Given the description of an element on the screen output the (x, y) to click on. 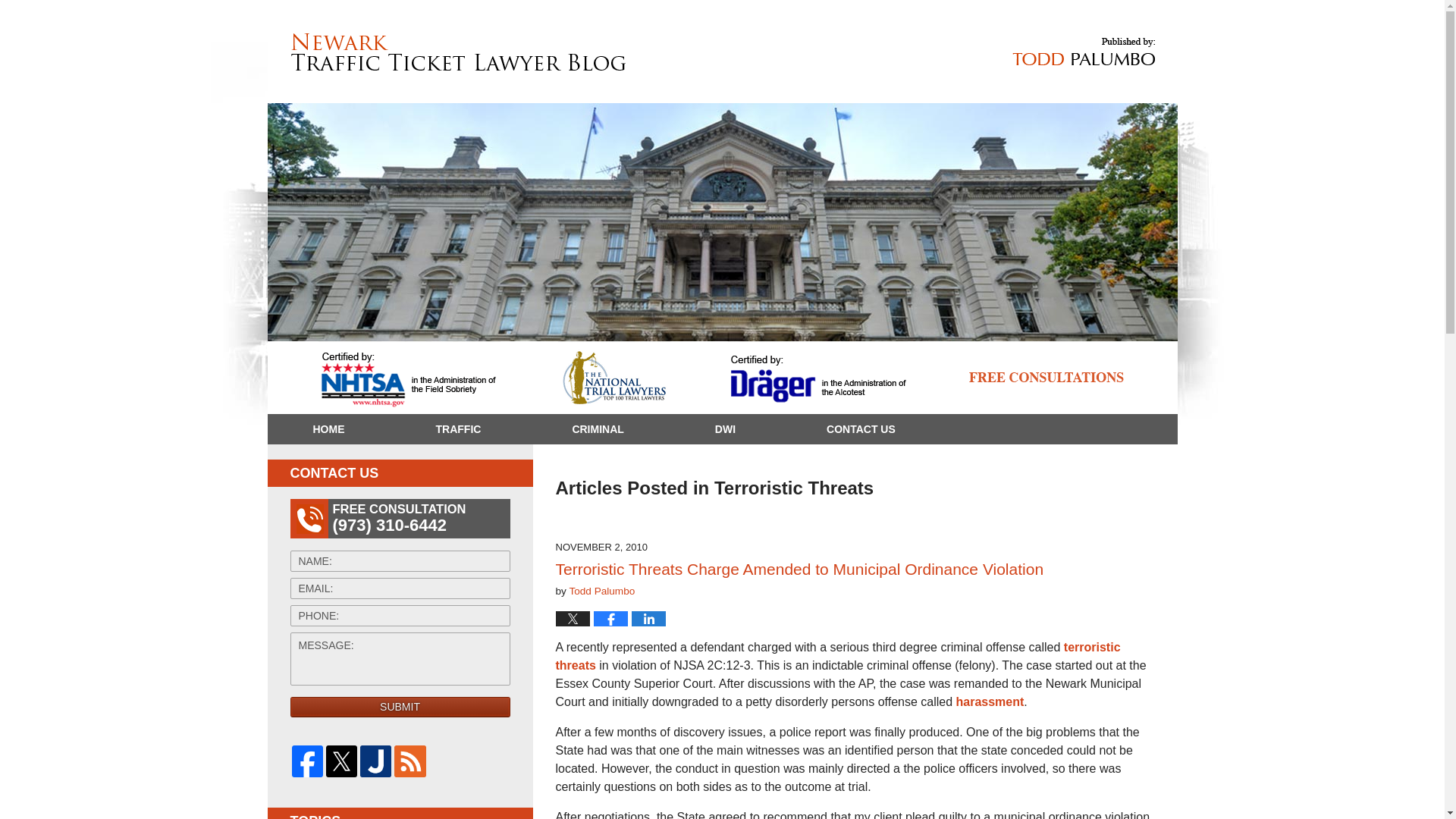
CONTACT US (860, 429)
Feed (409, 760)
Please enter a valid phone number. (399, 615)
TRAFFIC (457, 429)
Justia (375, 760)
HOME (328, 429)
CRIMINAL (596, 429)
DWI (724, 429)
terroristic threats (836, 655)
Newark Traffic Ticket Lawyer Blog (458, 52)
Twitter (341, 760)
Facebook (306, 760)
Todd Palumbo (601, 591)
